Given the description of an element on the screen output the (x, y) to click on. 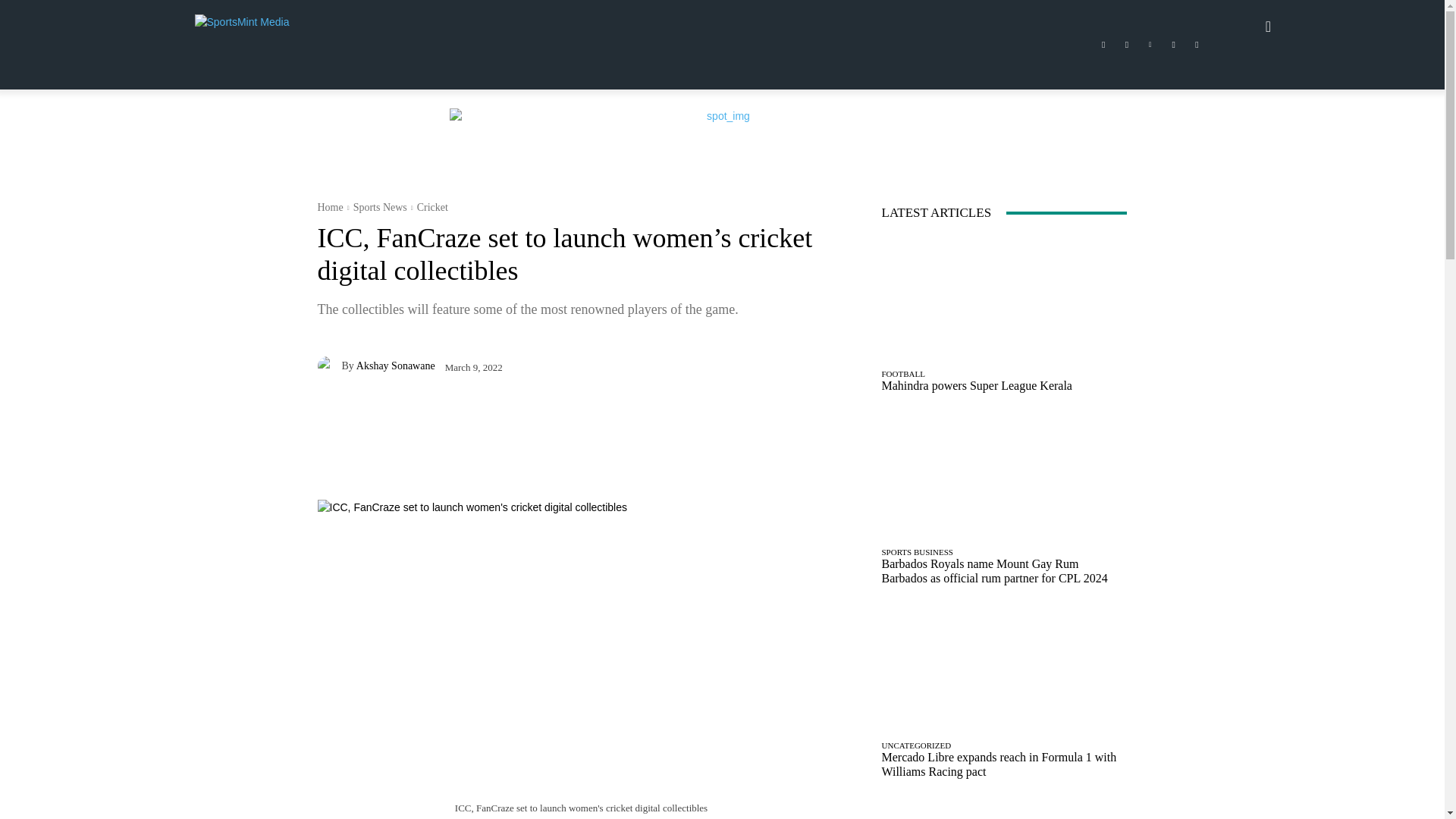
Twitter (1173, 45)
Instagram (1126, 45)
SportsMint Media (302, 25)
SportsMint Media (257, 25)
Linkedin (1149, 45)
Facebook (1103, 45)
